Given the description of an element on the screen output the (x, y) to click on. 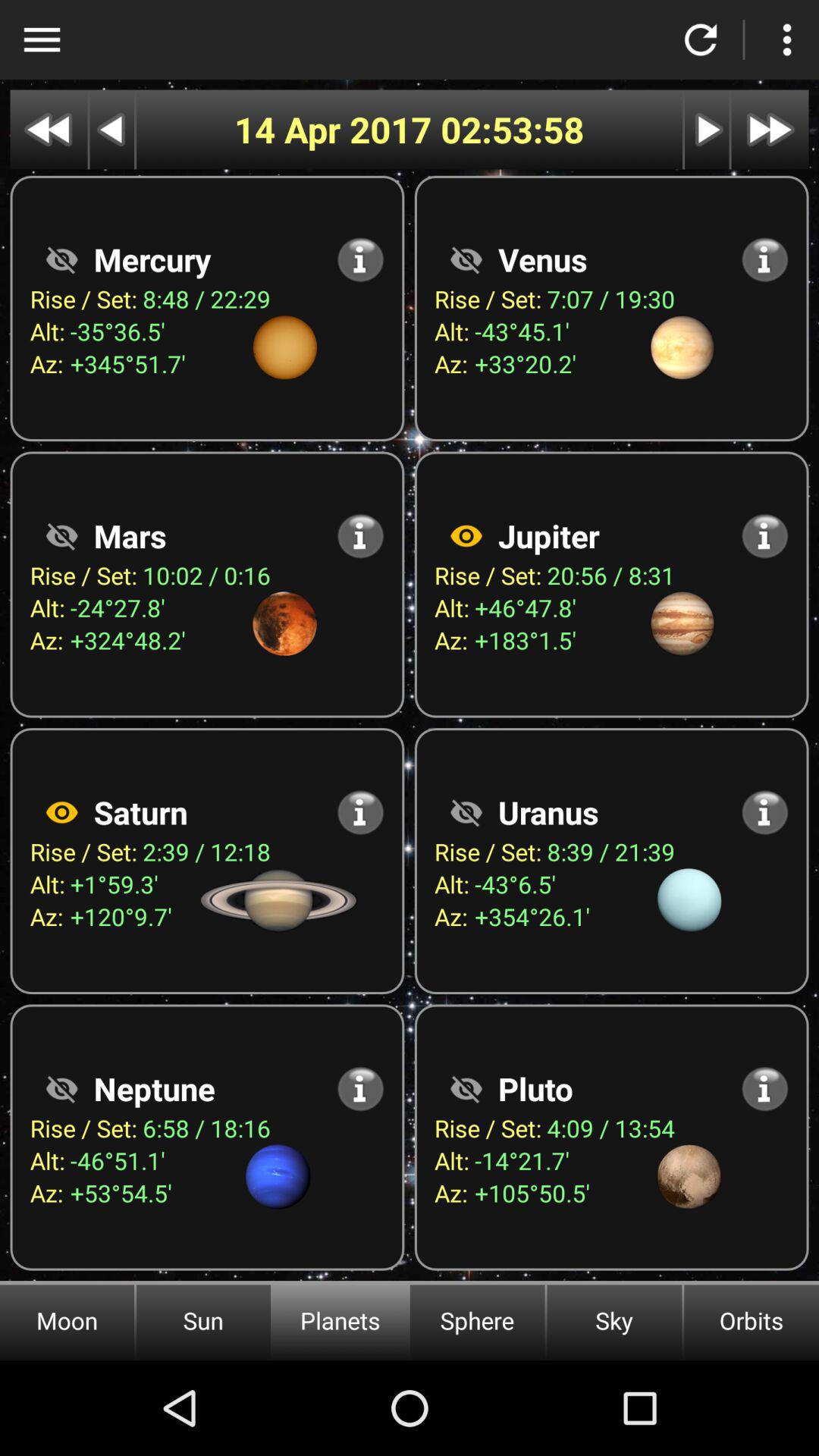
toggle mars option (61, 536)
